Given the description of an element on the screen output the (x, y) to click on. 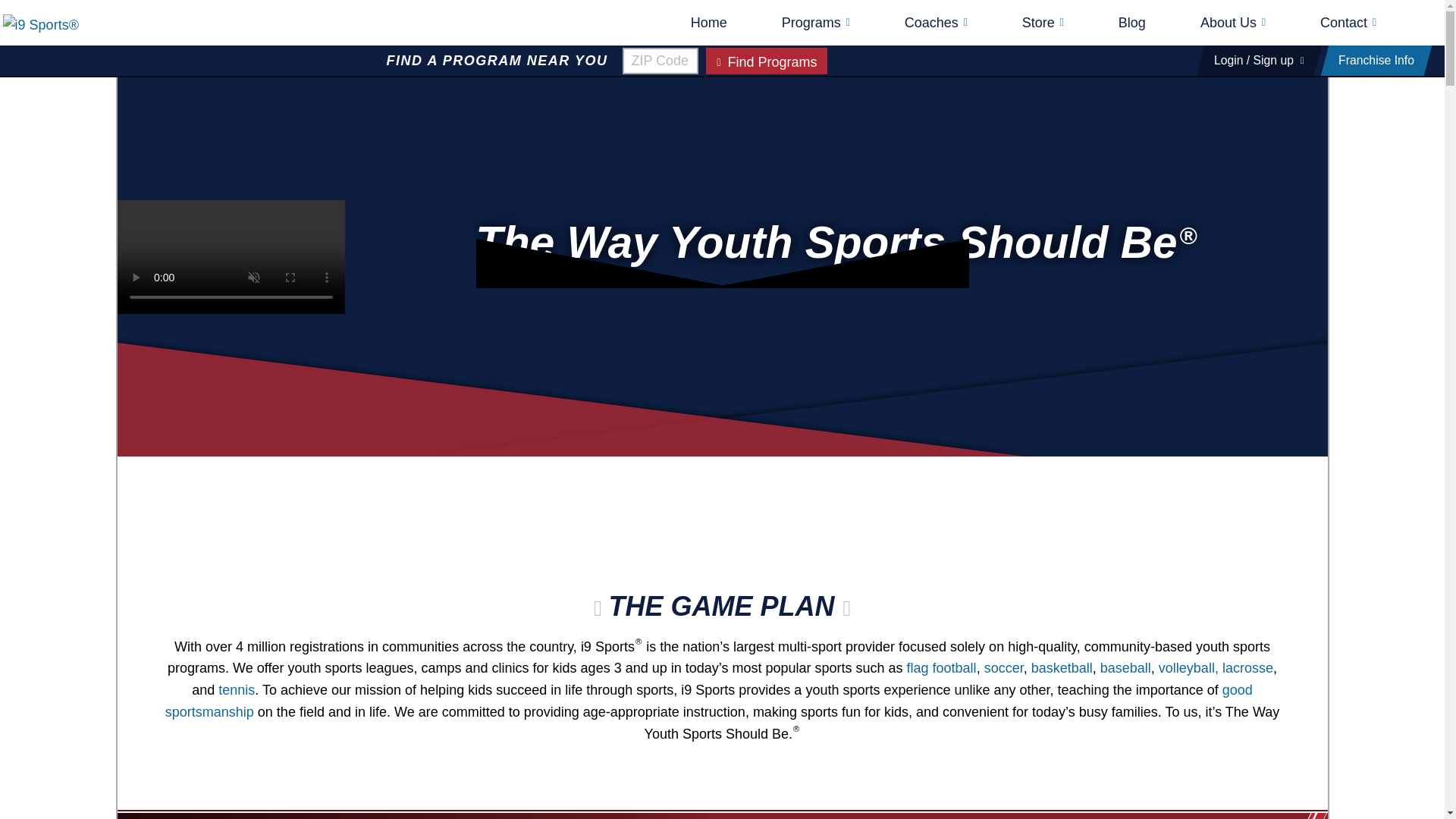
Store (1043, 22)
Coaches (936, 22)
Home (709, 22)
Programs (815, 22)
